Given the description of an element on the screen output the (x, y) to click on. 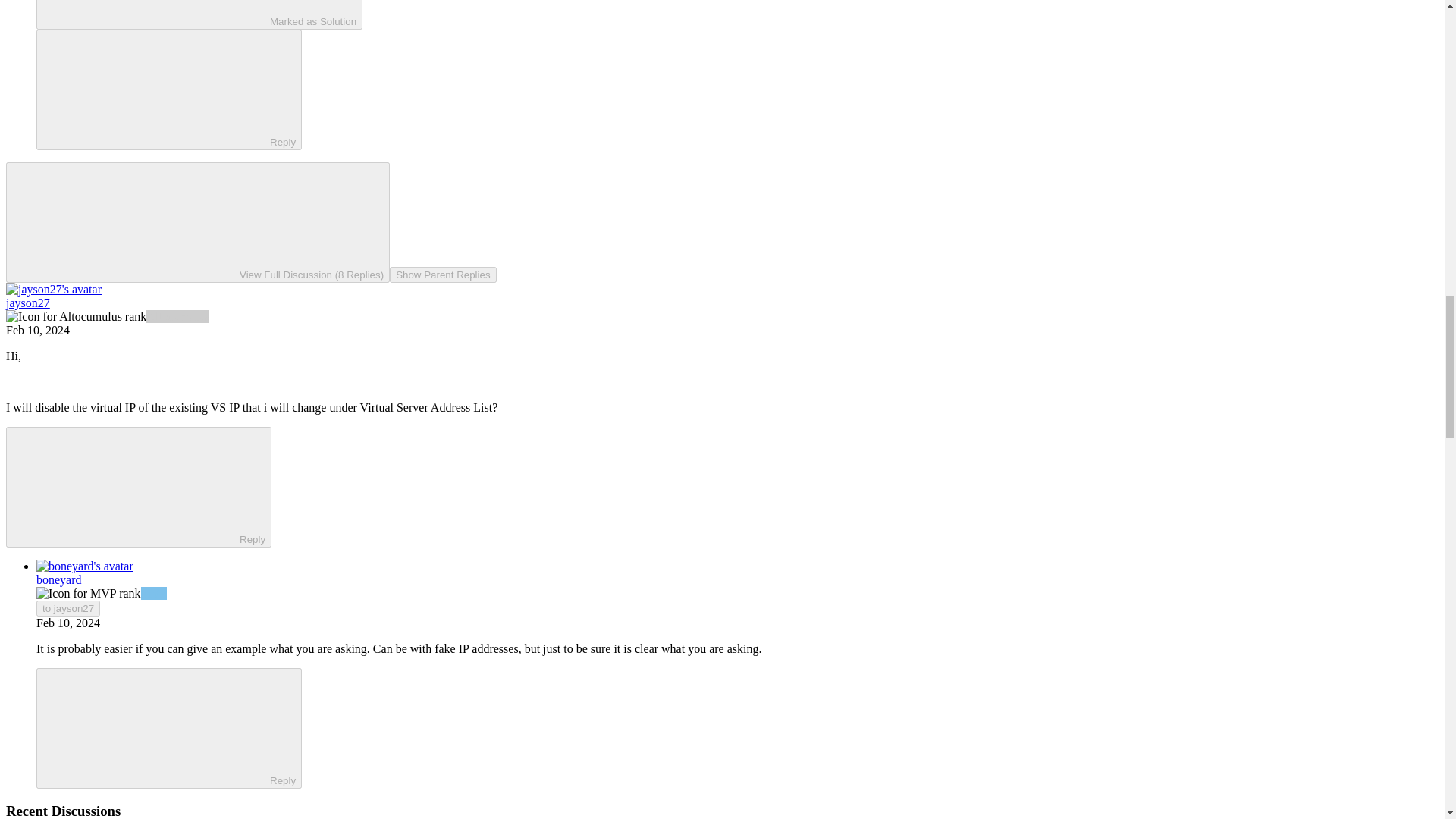
boneyard (58, 579)
Reply (125, 485)
jayson27 (27, 302)
Reply (155, 88)
ReplyReply (168, 89)
February 10, 2024 at 4:39 PM (37, 329)
February 10, 2024 at 6:03 PM (68, 622)
ReplyReply (137, 486)
Show Parent Replies (443, 274)
Marked as Solution (199, 14)
to jayson27 (68, 608)
Reply (155, 726)
ReplyReply (168, 728)
